Given the description of an element on the screen output the (x, y) to click on. 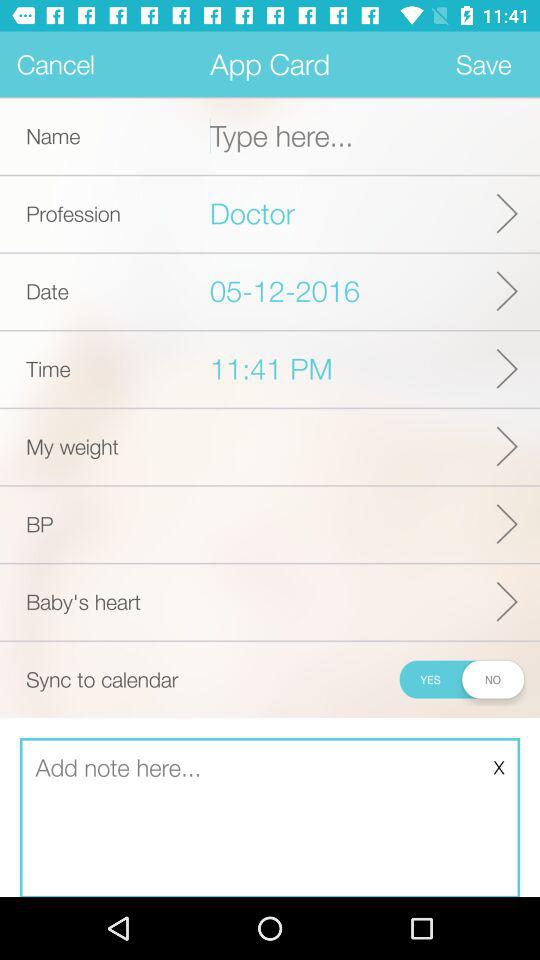
toggle sync option (460, 679)
